Given the description of an element on the screen output the (x, y) to click on. 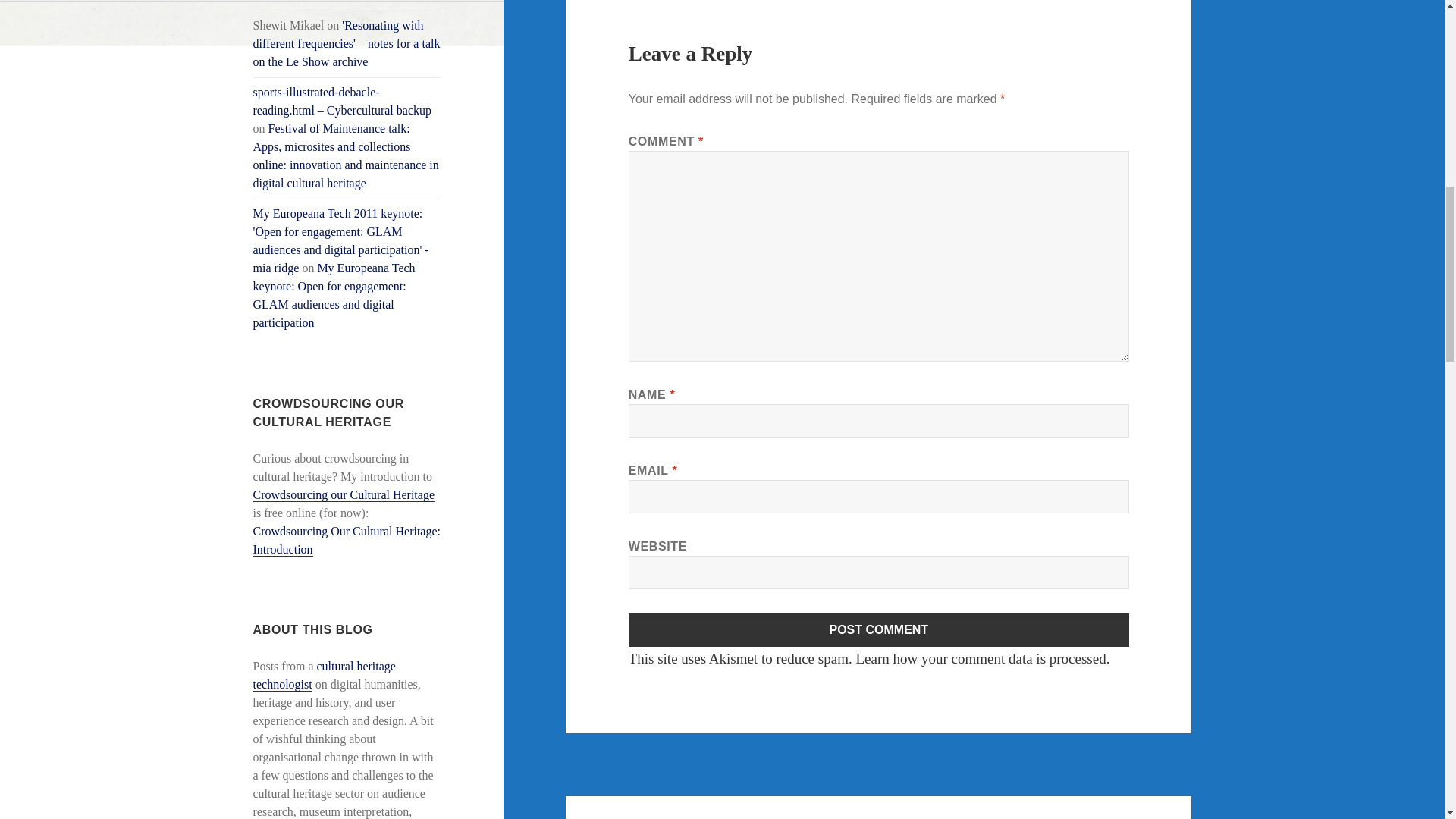
Post Comment (878, 630)
cultural heritage technologist (324, 675)
Crowdsourcing our Cultural Heritage (344, 495)
Crowdsourcing Our Cultural Heritage: Introduction (347, 540)
